Given the description of an element on the screen output the (x, y) to click on. 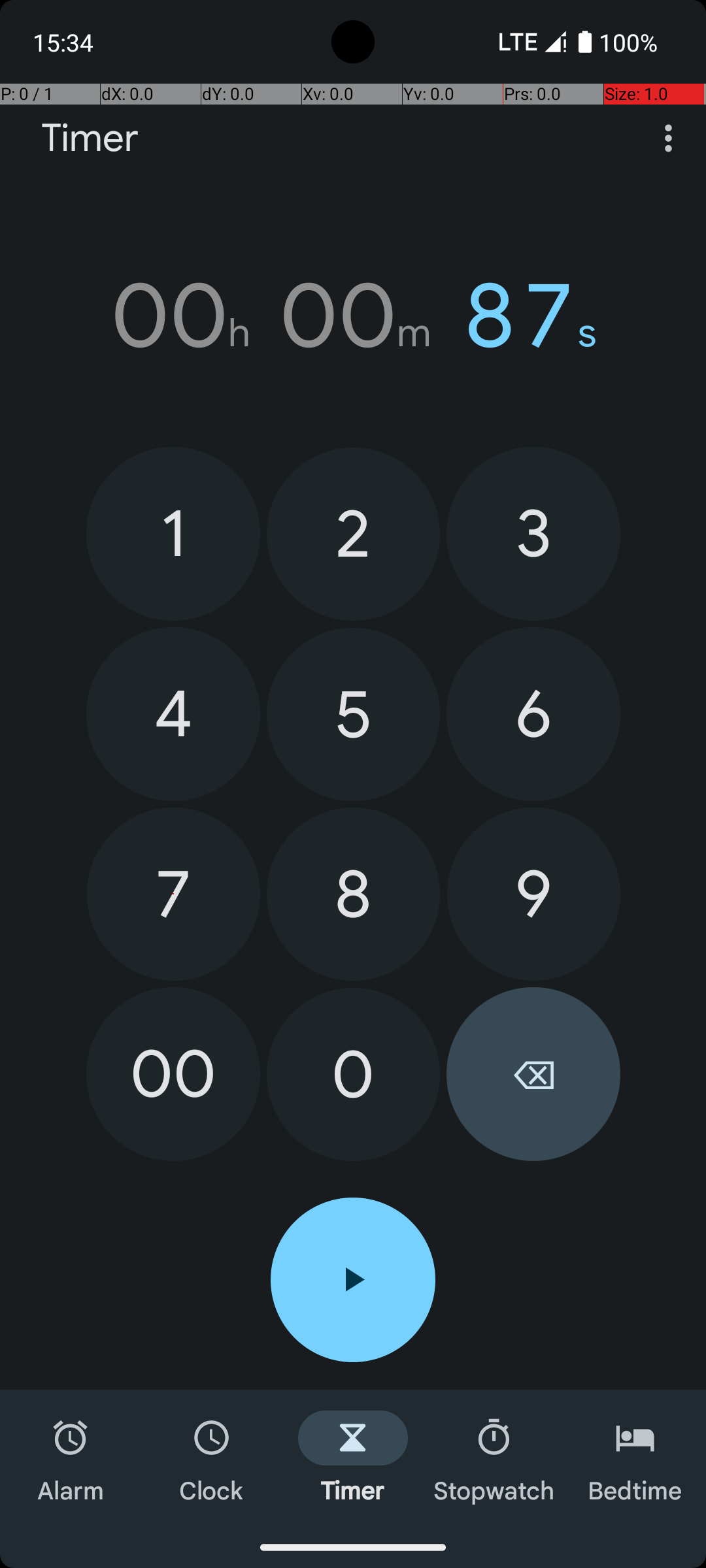
00h 00m 87s Element type: android.widget.TextView (353, 315)
